Given the description of an element on the screen output the (x, y) to click on. 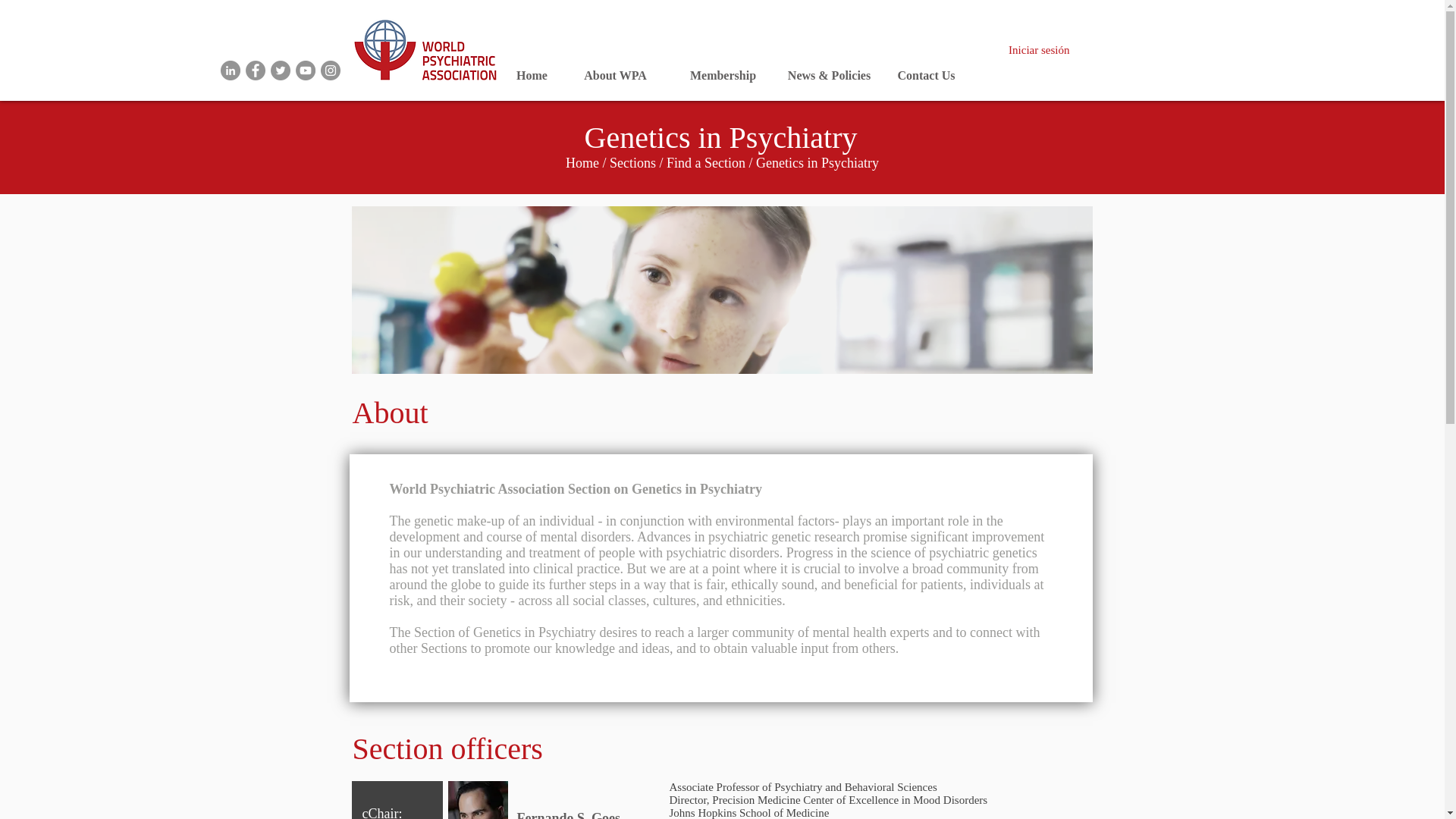
Contact Us (925, 75)
Find a Section (705, 162)
Home (531, 75)
Home (582, 162)
Fernando S. Goes.jpg (476, 800)
